Given the description of an element on the screen output the (x, y) to click on. 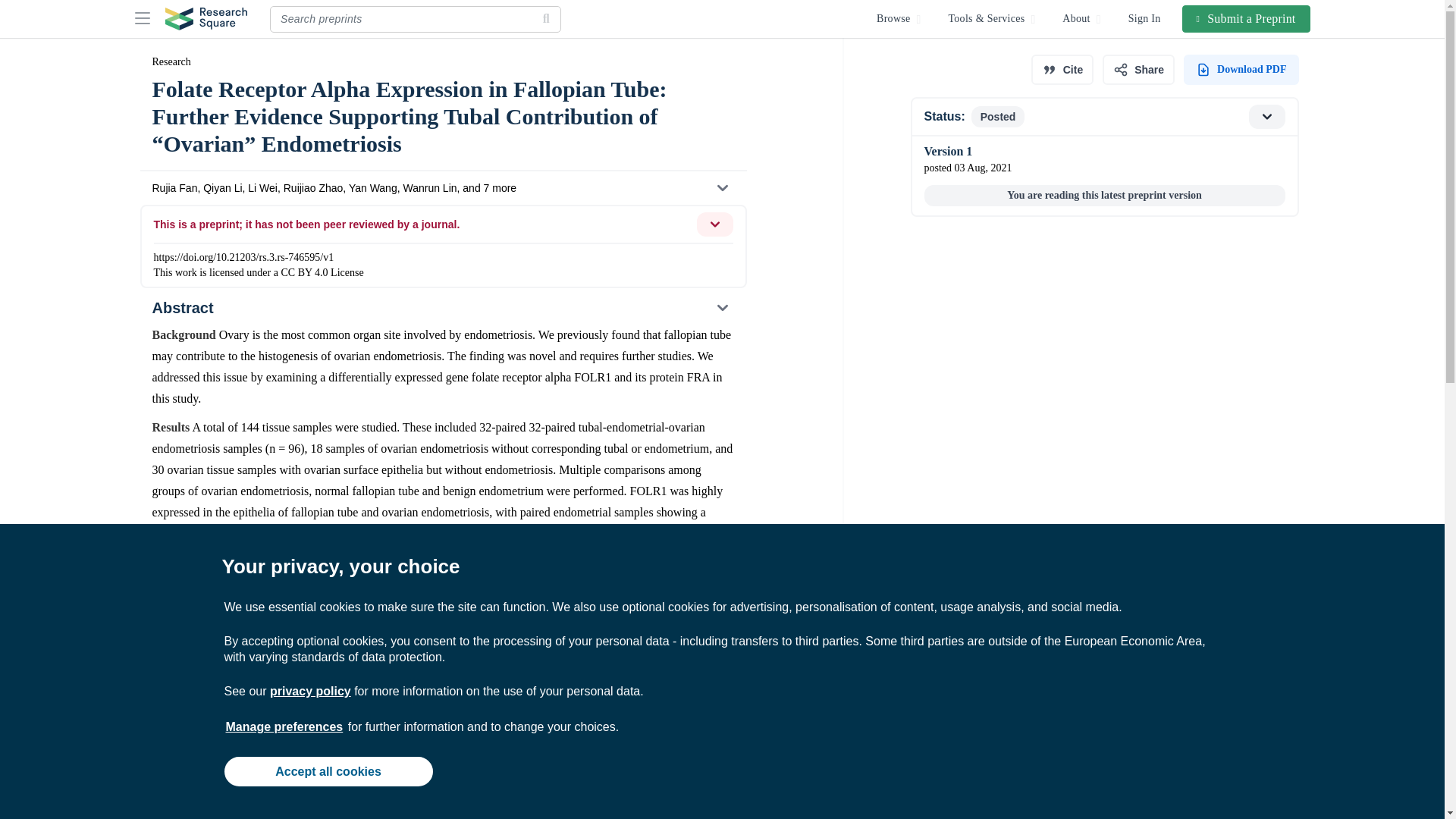
Submit a Preprint (1246, 18)
Manage preferences (284, 726)
Cancer Biology (369, 700)
Accept all cookies (328, 771)
privacy policy (309, 690)
Sign In (1144, 18)
Figures (442, 771)
Abstract (442, 307)
Background (442, 804)
